Given the description of an element on the screen output the (x, y) to click on. 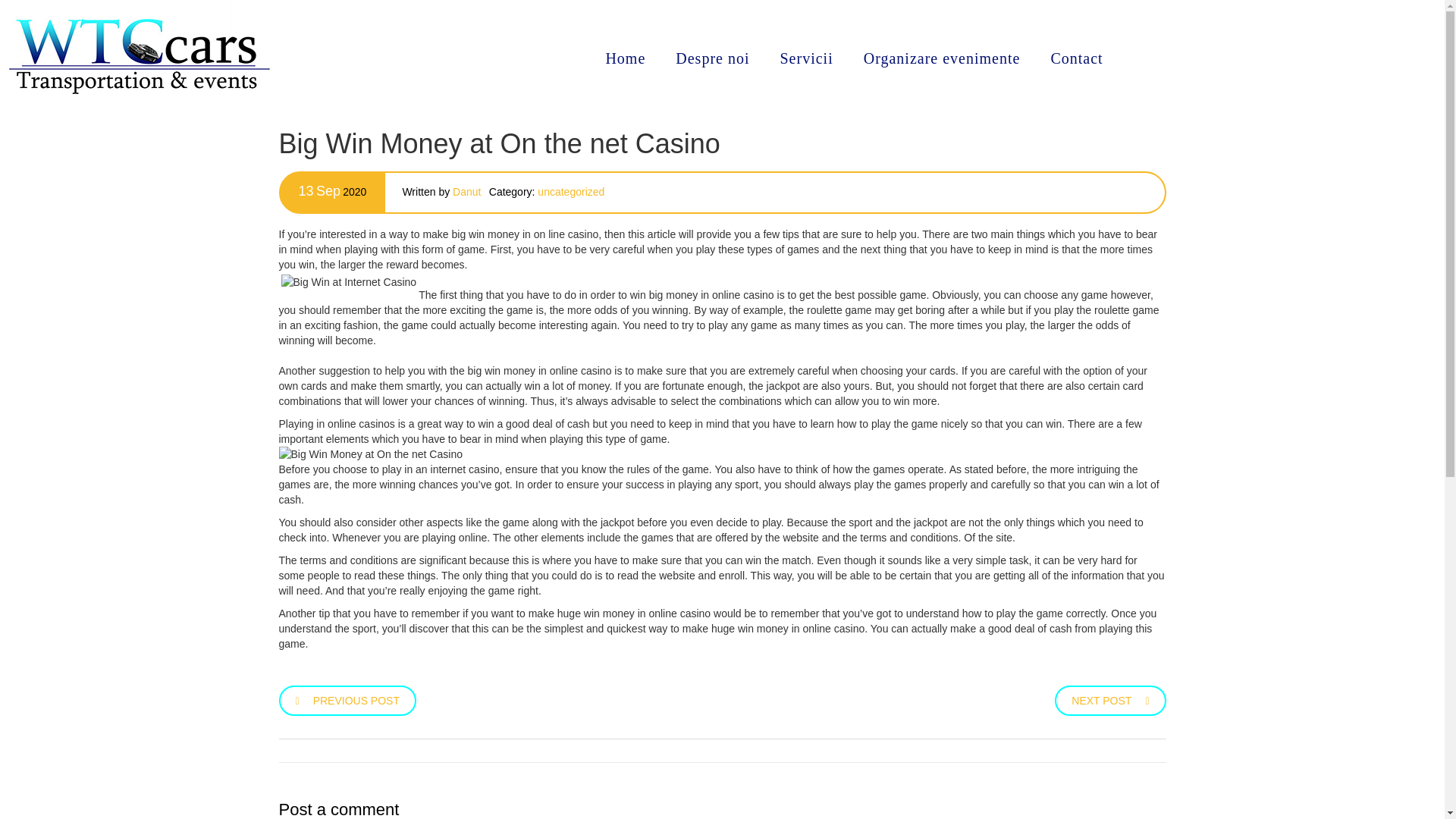
Posts by Danut (466, 191)
PREVIOUS POST (347, 698)
Organizare evenimente (941, 57)
goldenstar-casino.com (332, 355)
Home (625, 57)
Contact (1076, 57)
View all posts in Uncategorized (570, 191)
NEXT POST (1110, 698)
uncategorized (570, 191)
Despre noi (712, 57)
